Given the description of an element on the screen output the (x, y) to click on. 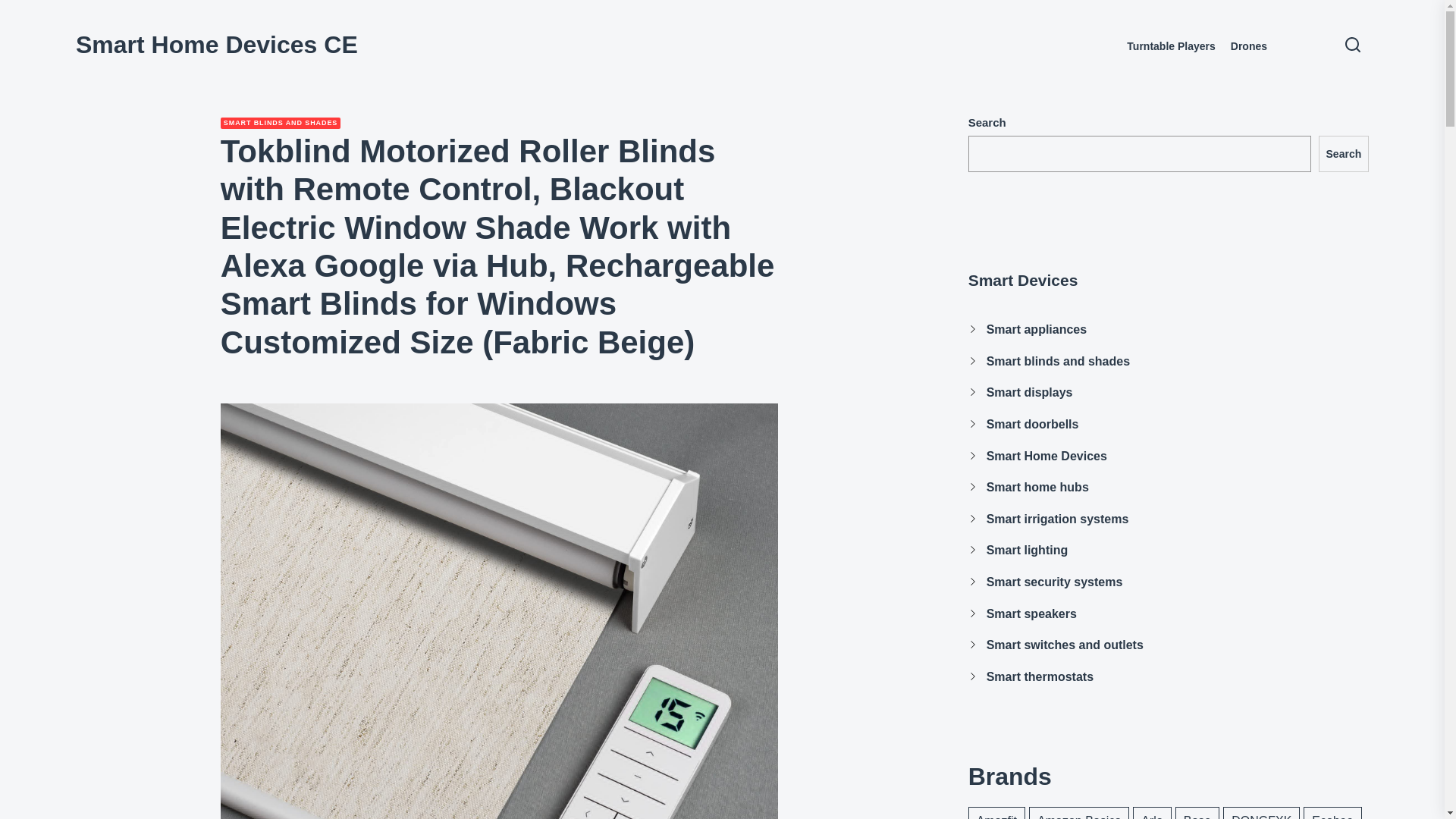
Search (1343, 153)
Smart Home Devices CE (216, 44)
Drones (1248, 46)
Turntable Players (1170, 46)
SMART BLINDS AND SHADES (280, 122)
